Given the description of an element on the screen output the (x, y) to click on. 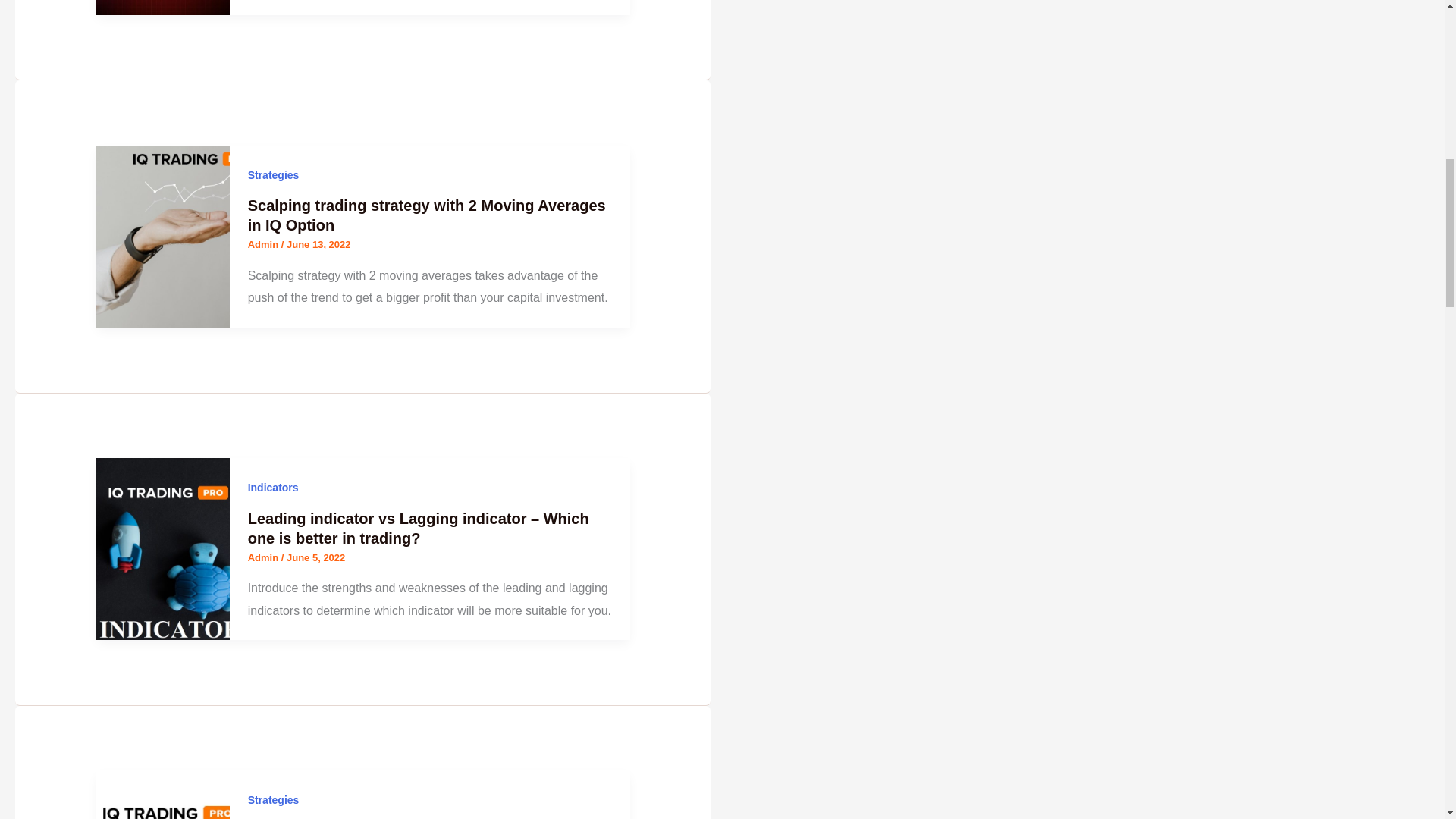
Admin (264, 244)
View all posts by Admin (264, 244)
Indicators (272, 487)
View all posts by Admin (264, 557)
Strategies (273, 799)
Strategies (273, 174)
Admin (264, 557)
